Given the description of an element on the screen output the (x, y) to click on. 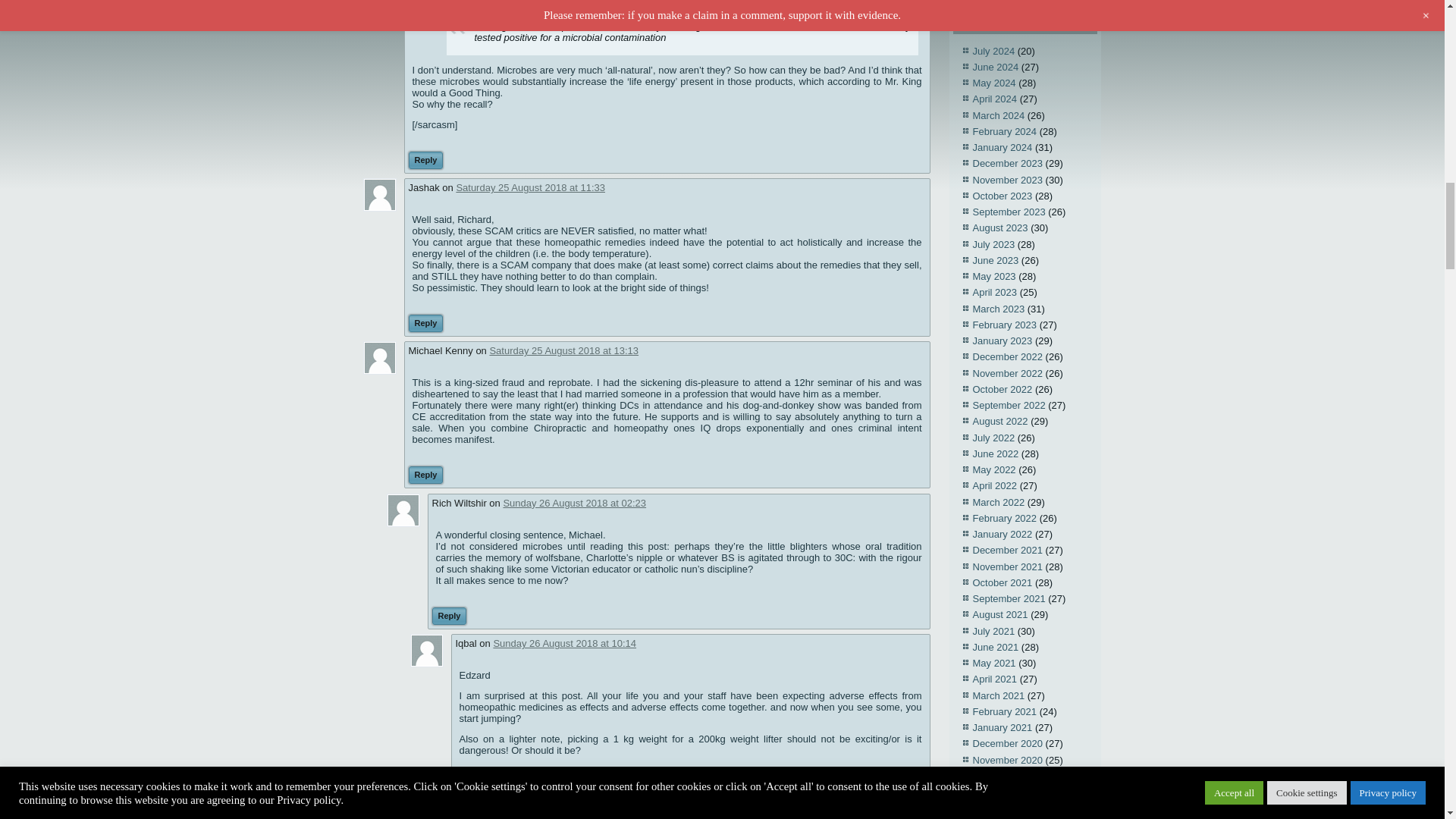
Saturday 25 August 2018 at 11:33 (530, 187)
Reply (424, 159)
